Given the description of an element on the screen output the (x, y) to click on. 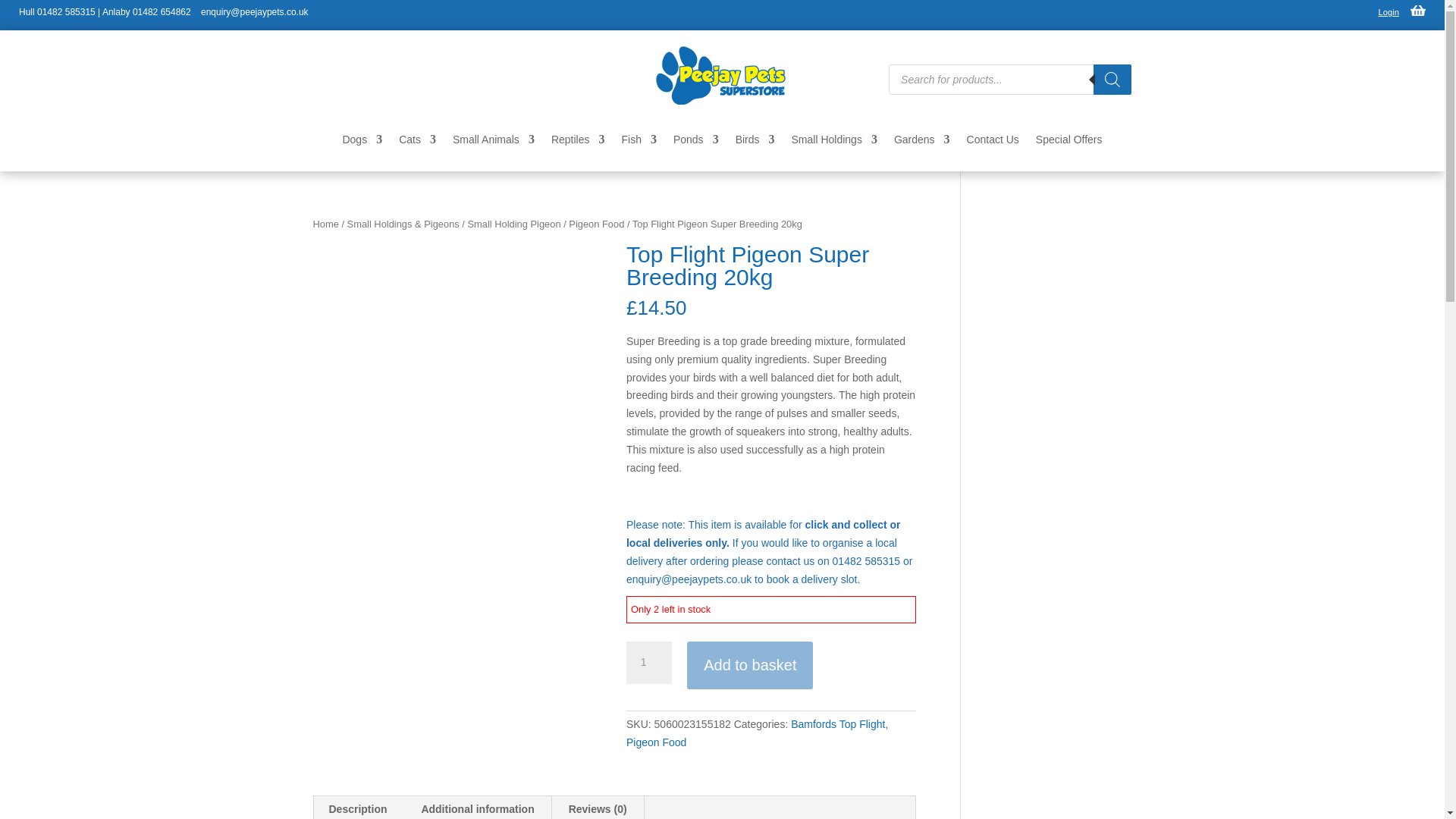
peejay-pets-superstore-80 (722, 75)
01482 654862 (161, 11)
Dogs (361, 142)
Reptiles (578, 142)
Small Animals (493, 142)
01482 585315 (66, 11)
Login (1388, 11)
1 (648, 662)
Cats (416, 142)
